Given the description of an element on the screen output the (x, y) to click on. 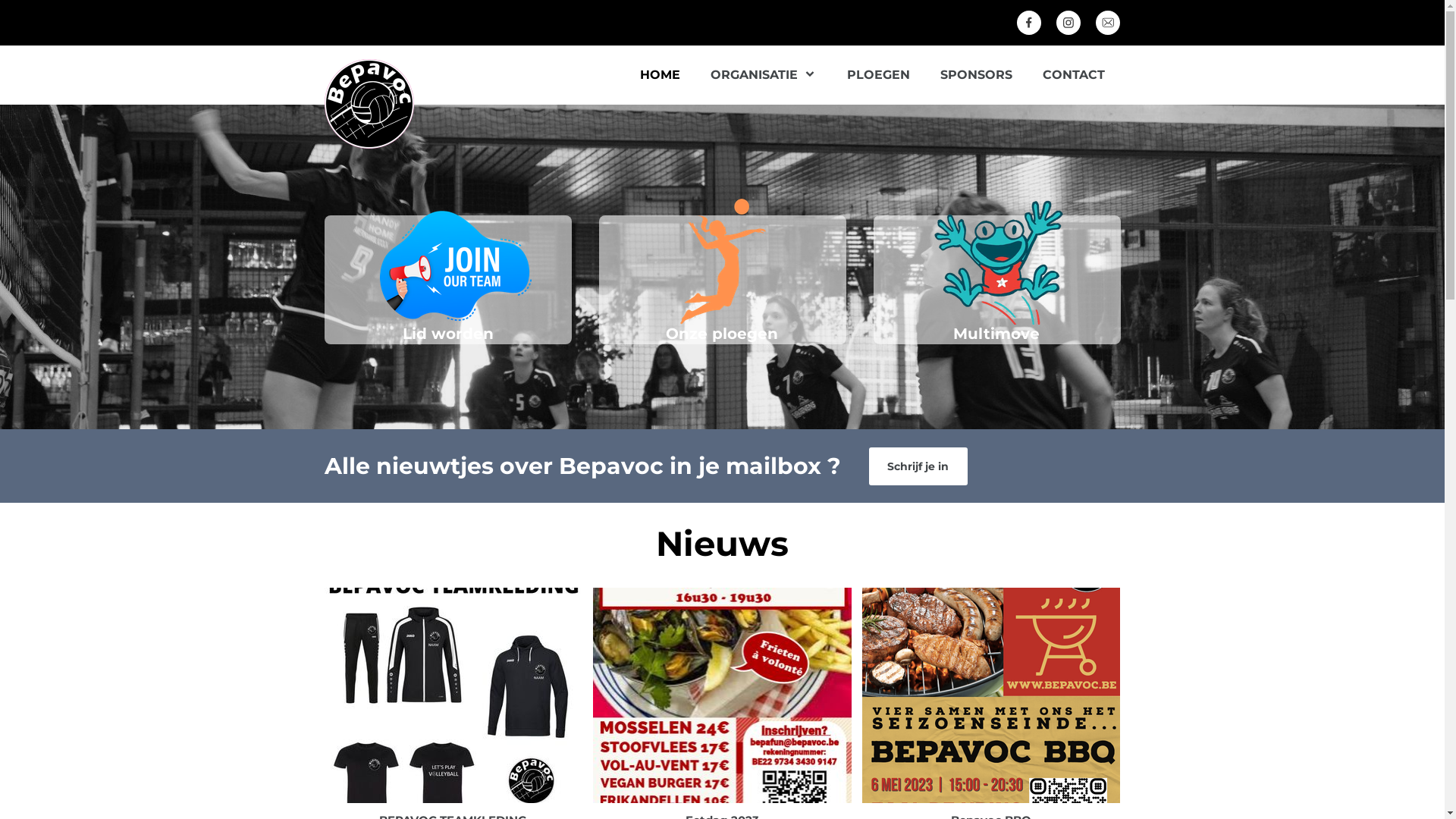
PLOEGEN Element type: text (877, 74)
CONTACT Element type: text (1072, 74)
Schrijf je in Element type: text (918, 466)
Bepavoc BBQ Element type: hover (991, 695)
Eetdag 2023 Element type: hover (722, 695)
ORGANISATIE Element type: text (763, 74)
SPONSORS Element type: text (976, 74)
BEPAVOC TEAMKLEDING Element type: hover (453, 695)
HOME Element type: text (659, 74)
